Given the description of an element on the screen output the (x, y) to click on. 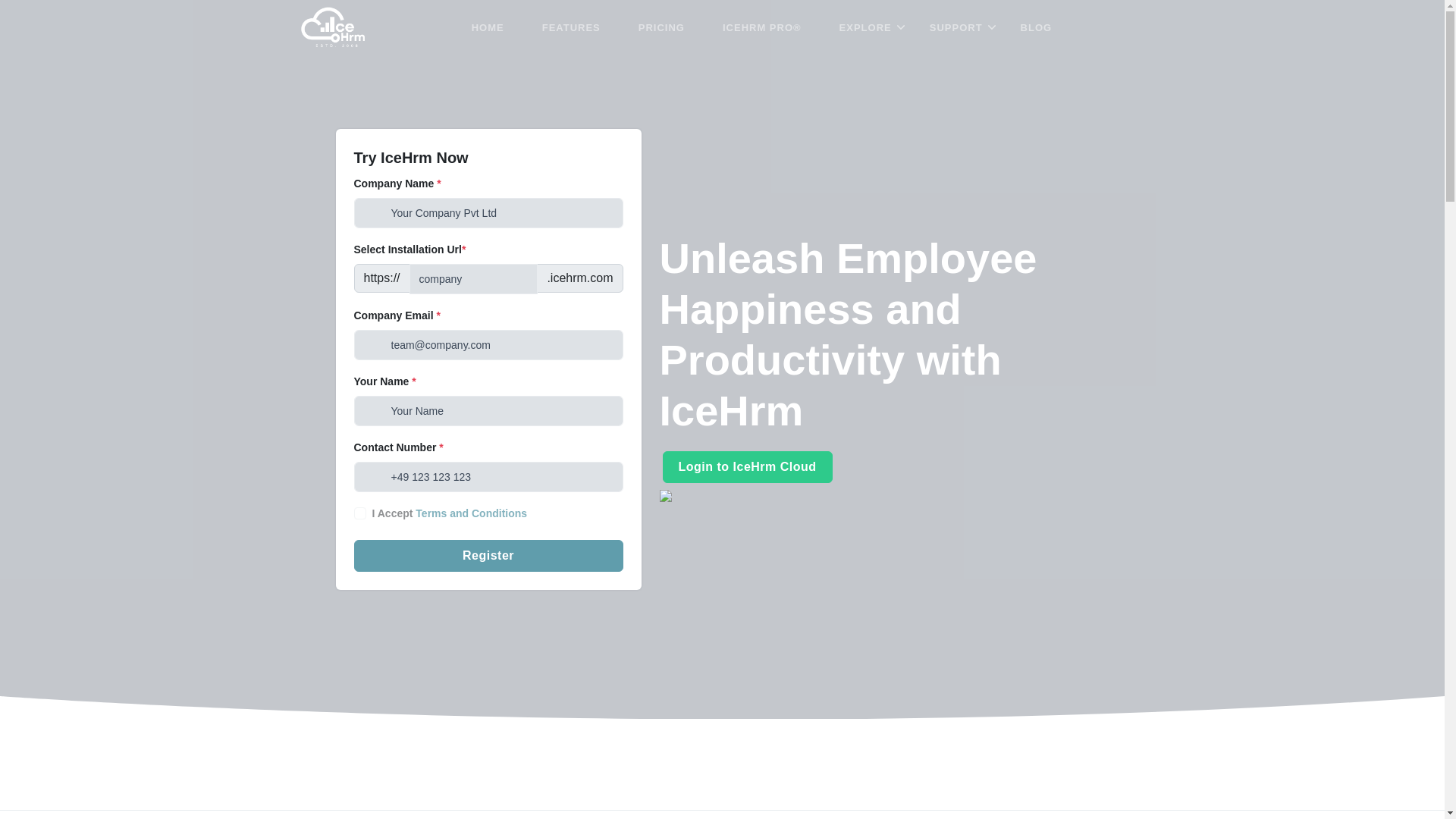
Register (488, 555)
HOME (487, 28)
BLOG (1036, 28)
SUPPORT (956, 28)
Terms and Conditions (470, 512)
EXPLORE (865, 28)
FEATURES (571, 28)
PRICING (661, 28)
Login to IceHrm Cloud (747, 467)
